Given the description of an element on the screen output the (x, y) to click on. 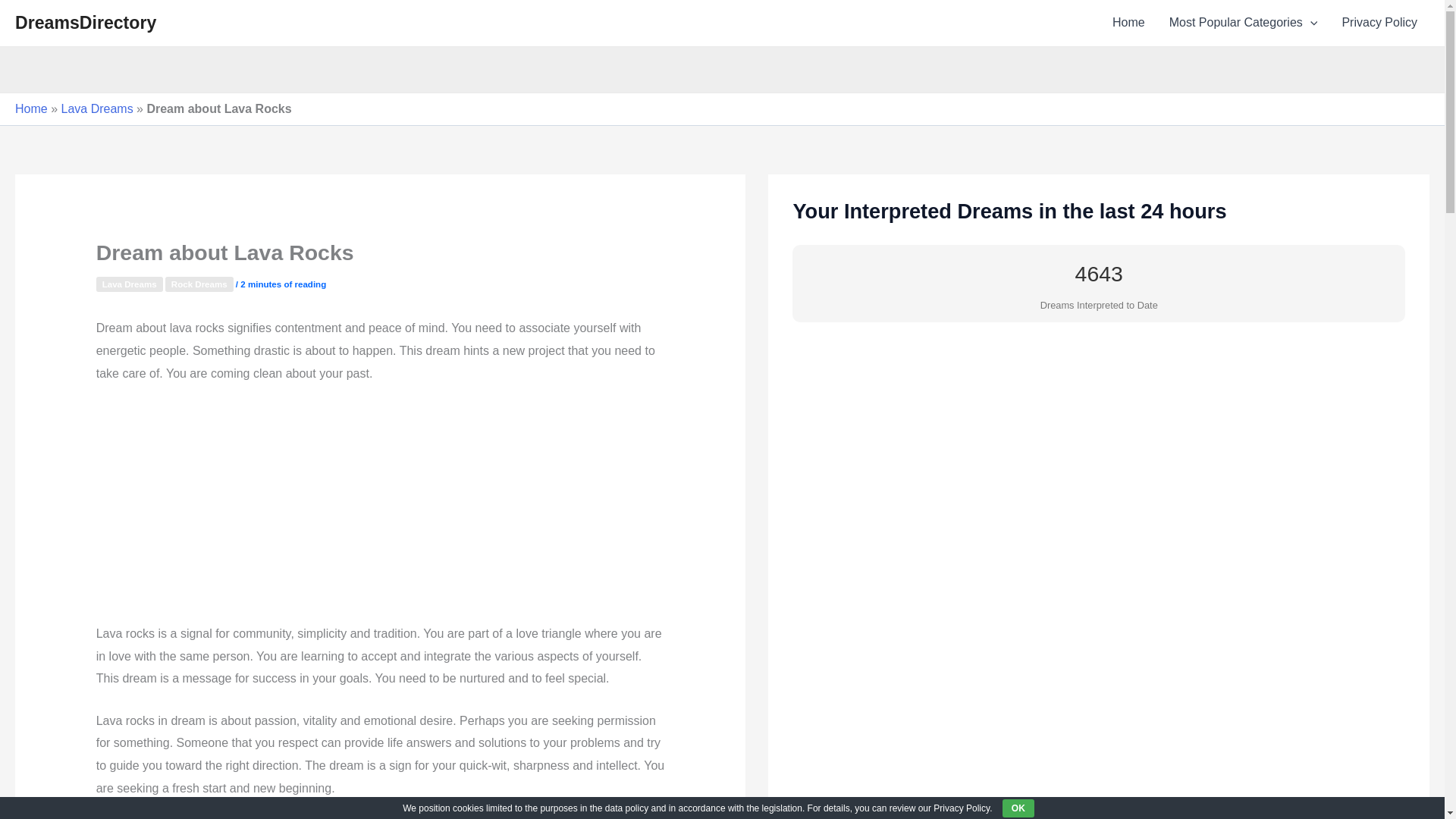
Rock Dreams (198, 283)
Privacy Policy (1379, 22)
Home (1128, 22)
DreamsDirectory (84, 22)
Advertisement (380, 510)
Lava Dreams (129, 283)
Lava Dreams (96, 108)
Home (31, 108)
Most Popular Categories (1243, 22)
